Given the description of an element on the screen output the (x, y) to click on. 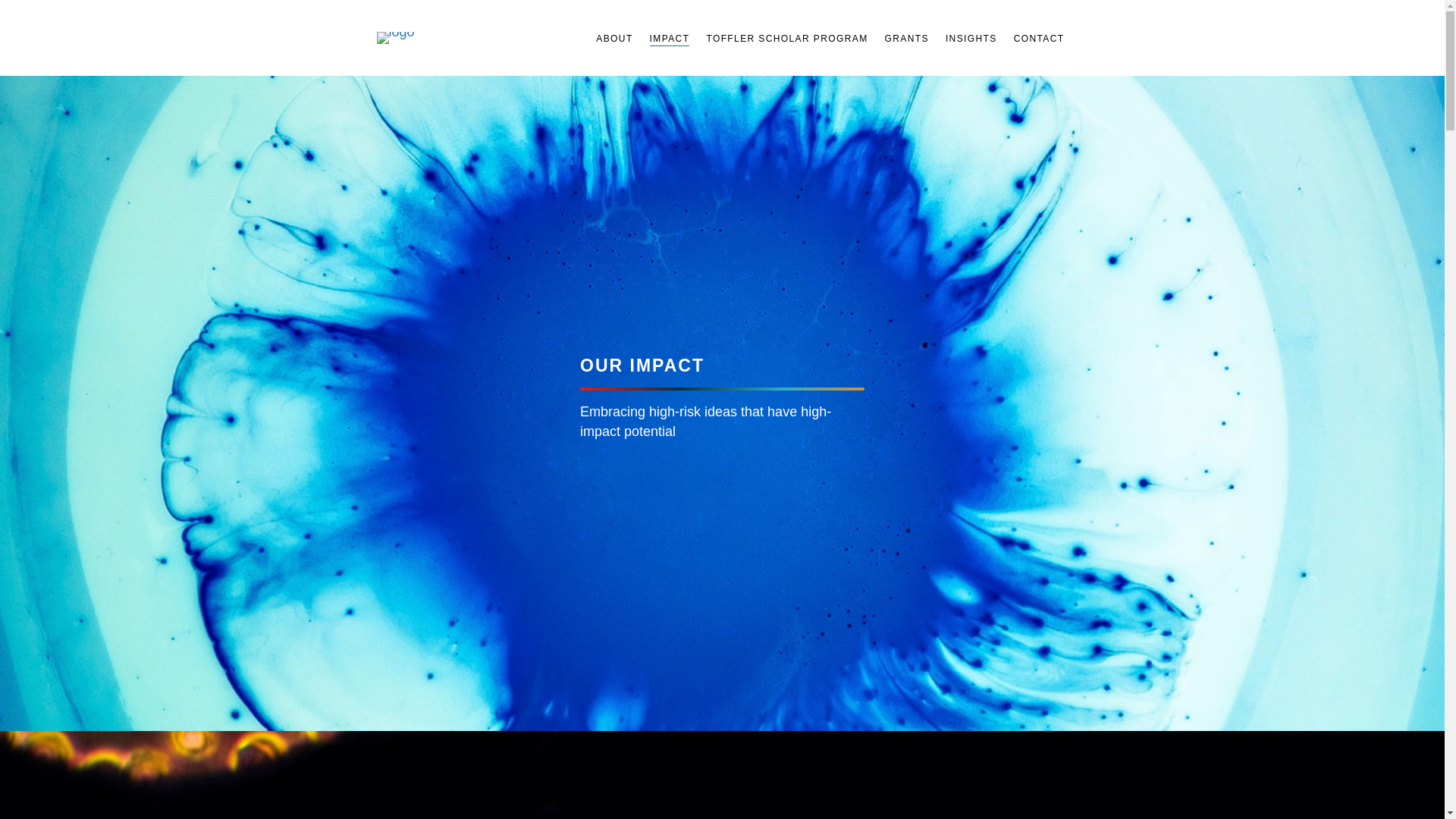
IMPACT (665, 41)
GRANTS (902, 40)
TOFFLER SCHOLAR PROGRAM (782, 40)
INSIGHTS (966, 40)
logo (394, 37)
ABOUT (608, 40)
CONTACT (1034, 40)
